Given the description of an element on the screen output the (x, y) to click on. 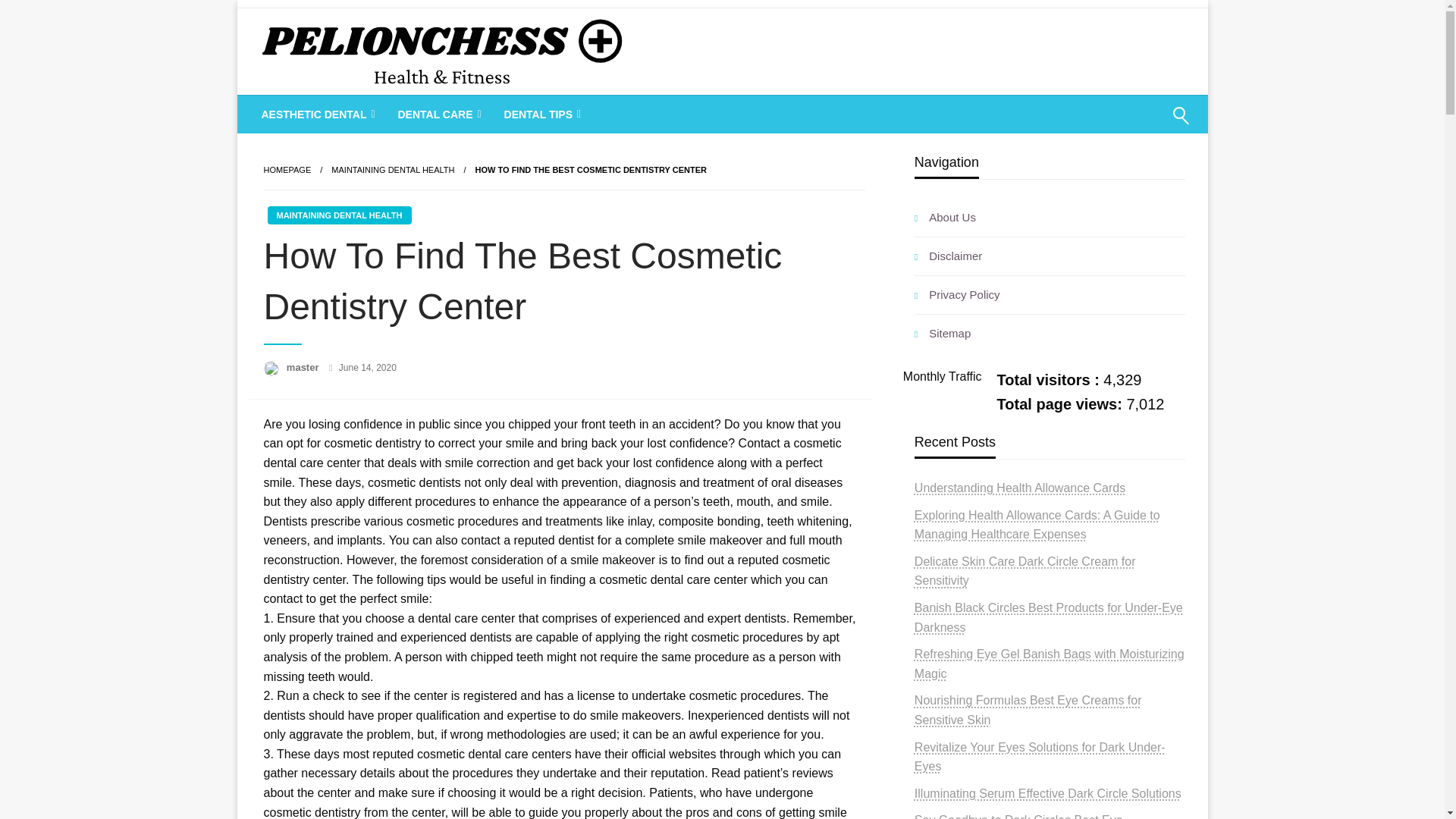
MAINTAINING DENTAL HEALTH (338, 215)
DENTAL CARE (437, 114)
Search (1144, 125)
Maintaining Dental Health (392, 169)
DENTAL TIPS (541, 114)
AESTHETIC DENTAL (316, 114)
June 14, 2020 (367, 367)
master (303, 367)
How To Find The Best Cosmetic Dentistry Center (591, 169)
master (303, 367)
PELIONCHESS (363, 114)
Homepage (287, 169)
MAINTAINING DENTAL HEALTH (392, 169)
HOMEPAGE (287, 169)
